Given the description of an element on the screen output the (x, y) to click on. 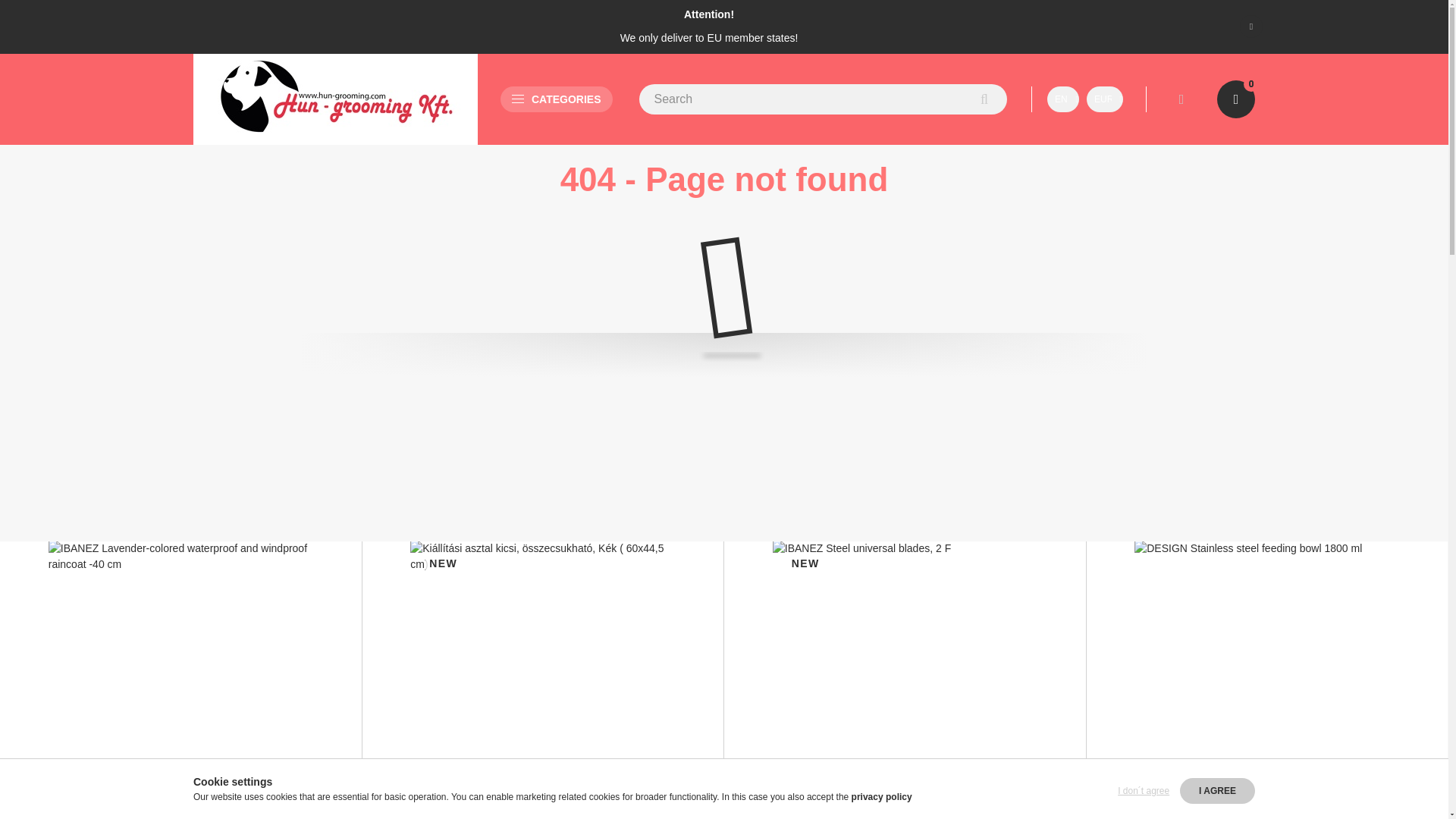
Enter a longer search term! (823, 99)
DESIGN Stainless steel feeding bowl 1800 ml (1266, 672)
0 (1236, 98)
Close (1251, 26)
Search (984, 98)
IBANEZ Steel universal blades, 2 F (887, 816)
CATEGORIES (556, 98)
IBANEZ Steel universal blades, 2 F (905, 672)
